Given the description of an element on the screen output the (x, y) to click on. 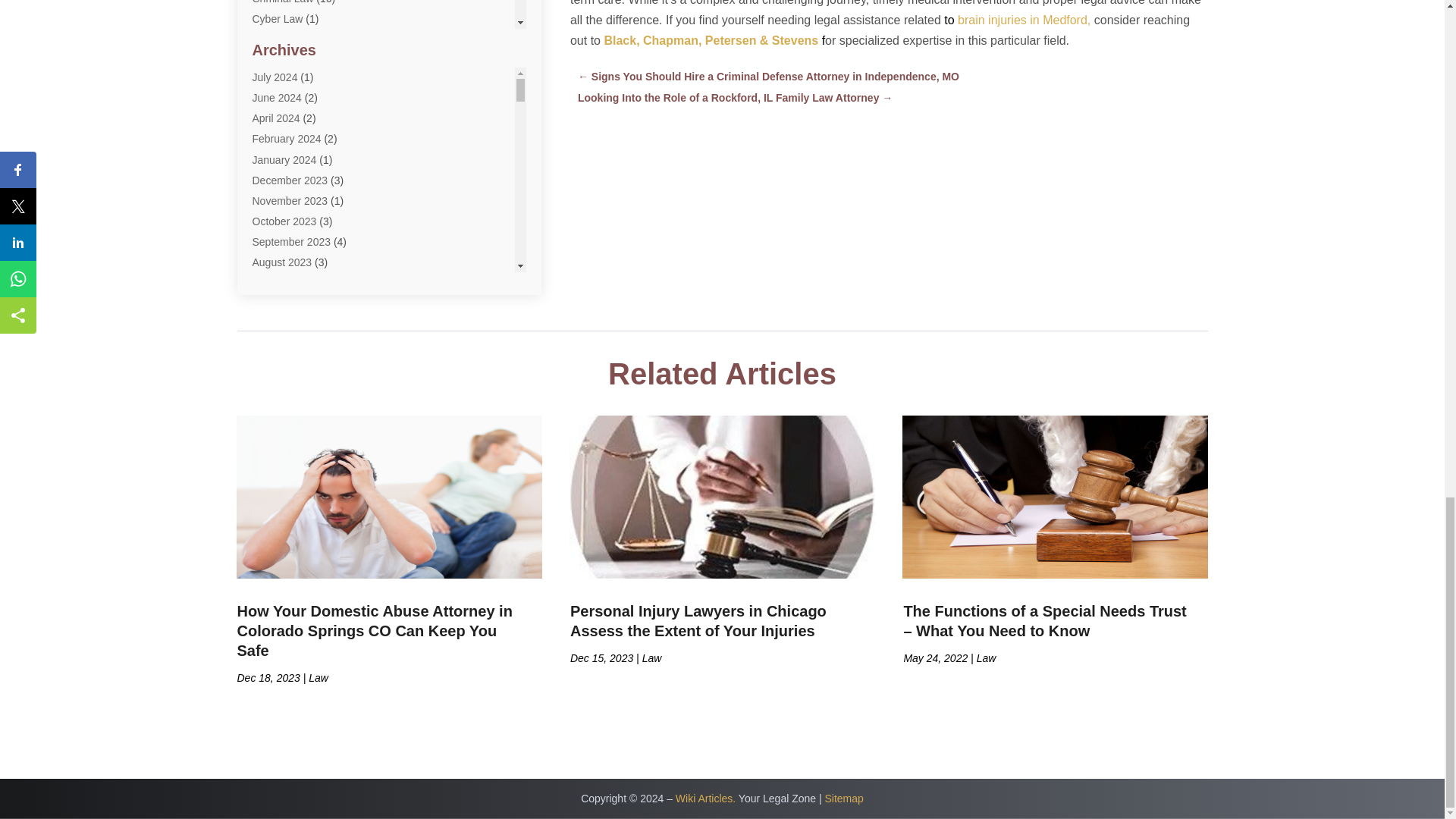
Divorce Service (288, 60)
DWI Lawyers (282, 101)
Criminal Law (282, 2)
General (270, 163)
Employment Law (292, 121)
Cyber Law (276, 19)
Divorce Lawyer (287, 39)
Family Law (278, 143)
Dui Law Attorneys (294, 80)
